Given the description of an element on the screen output the (x, y) to click on. 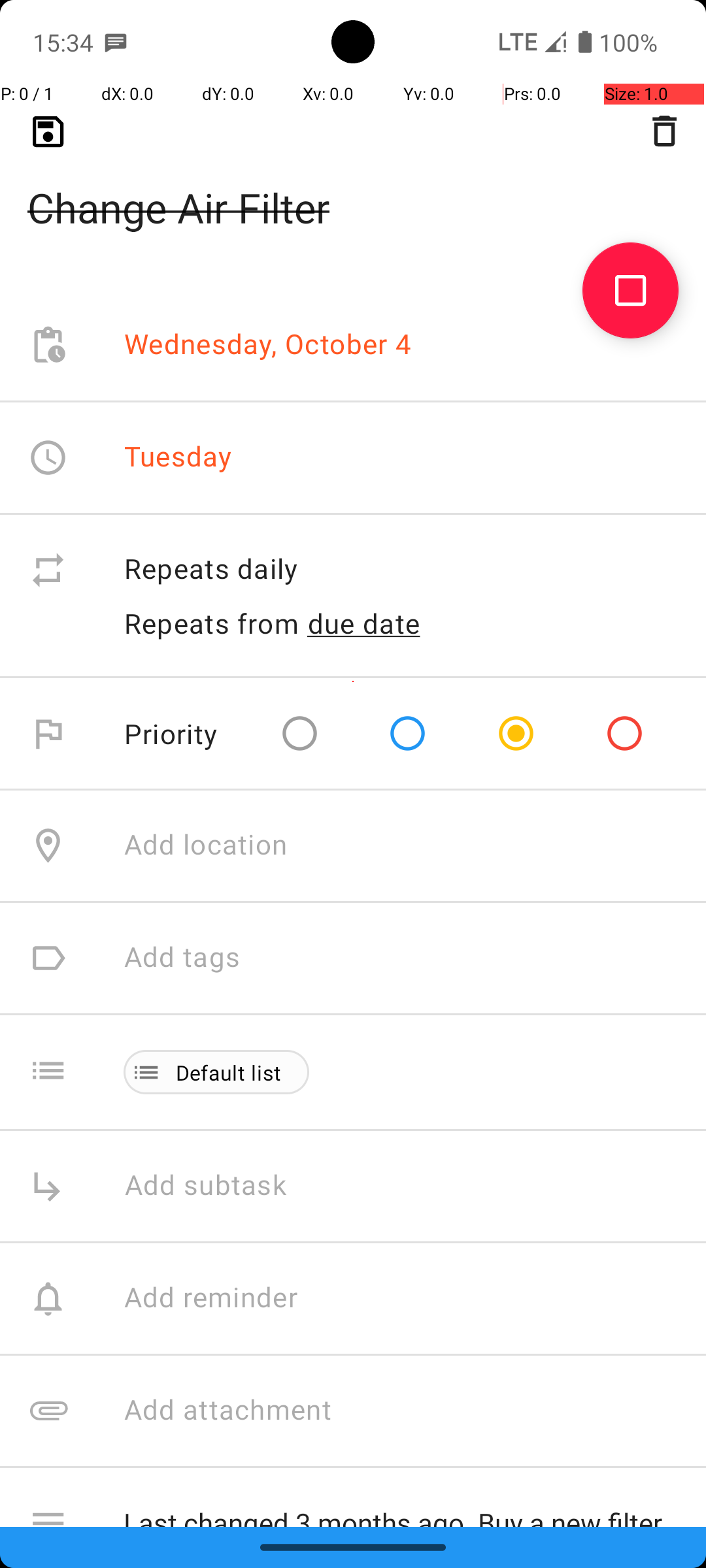
Wednesday, October 4 Element type: android.widget.TextView (267, 344)
Repeats daily Element type: android.widget.TextView (400, 569)
Repeats from Element type: android.widget.TextView (211, 622)
due date Element type: android.widget.TextView (363, 623)
